Given the description of an element on the screen output the (x, y) to click on. 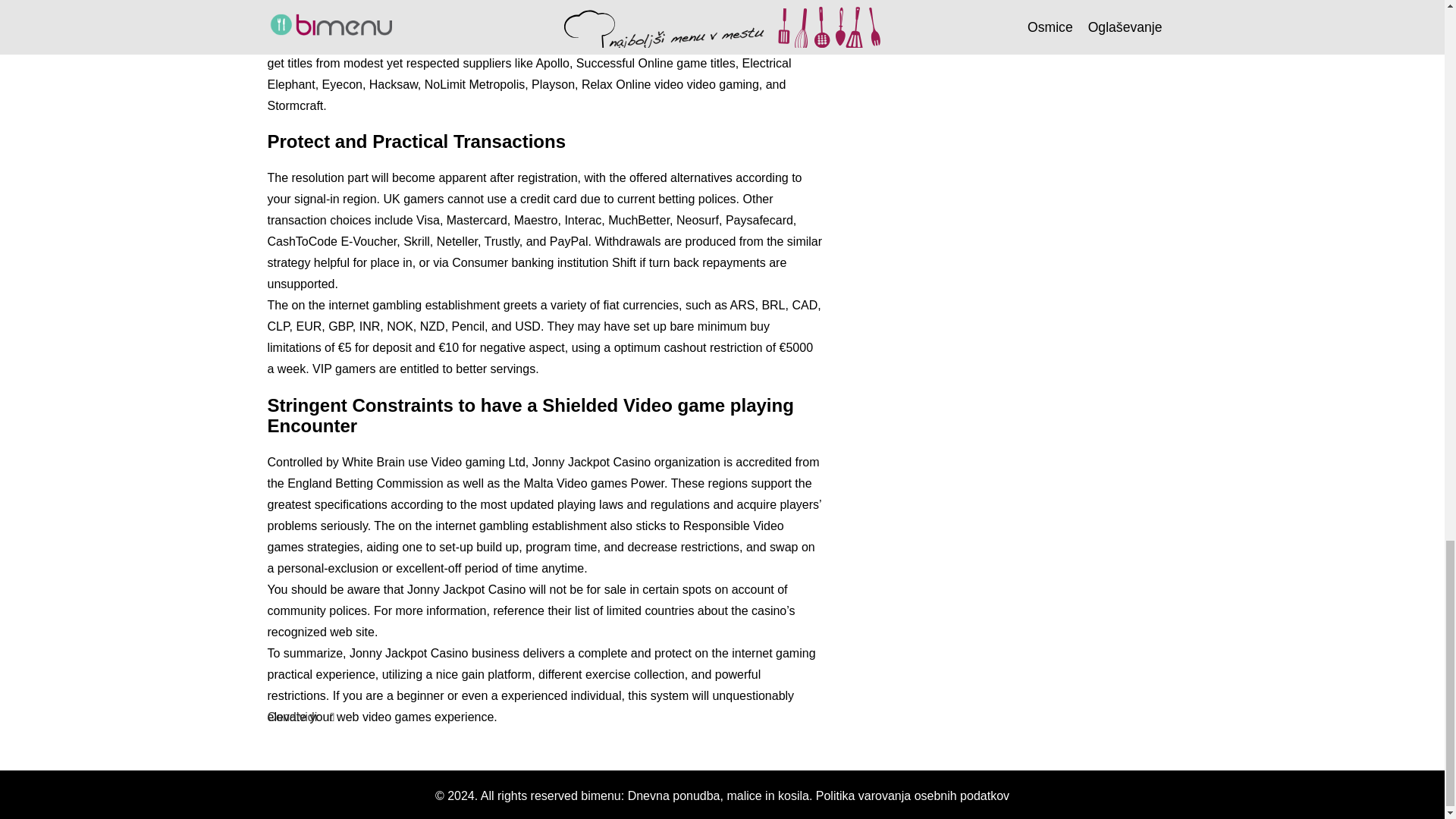
Politika varovanja osebnih podatkov (912, 795)
